Given the description of an element on the screen output the (x, y) to click on. 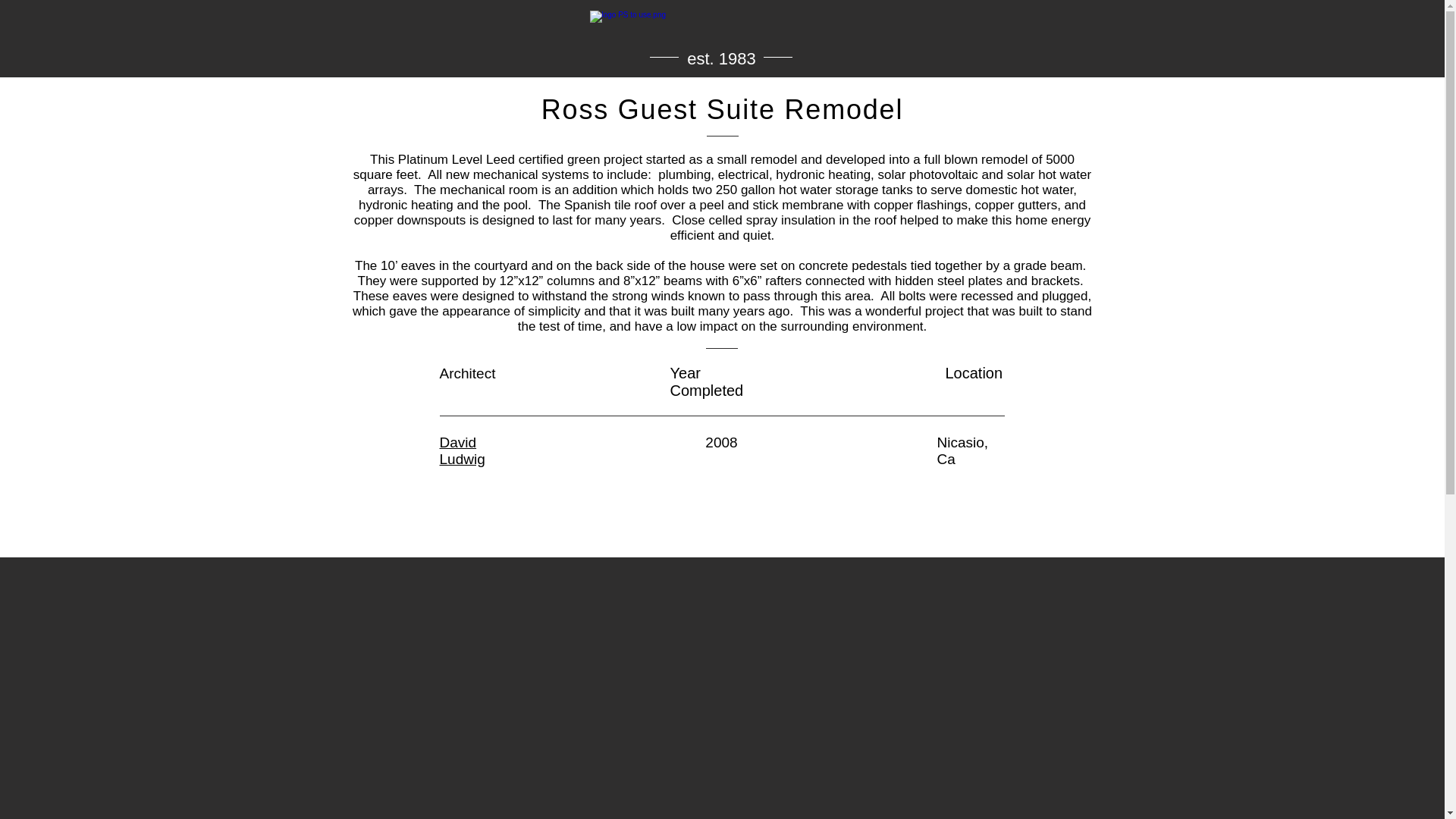
David Ludwig (461, 450)
